Given the description of an element on the screen output the (x, y) to click on. 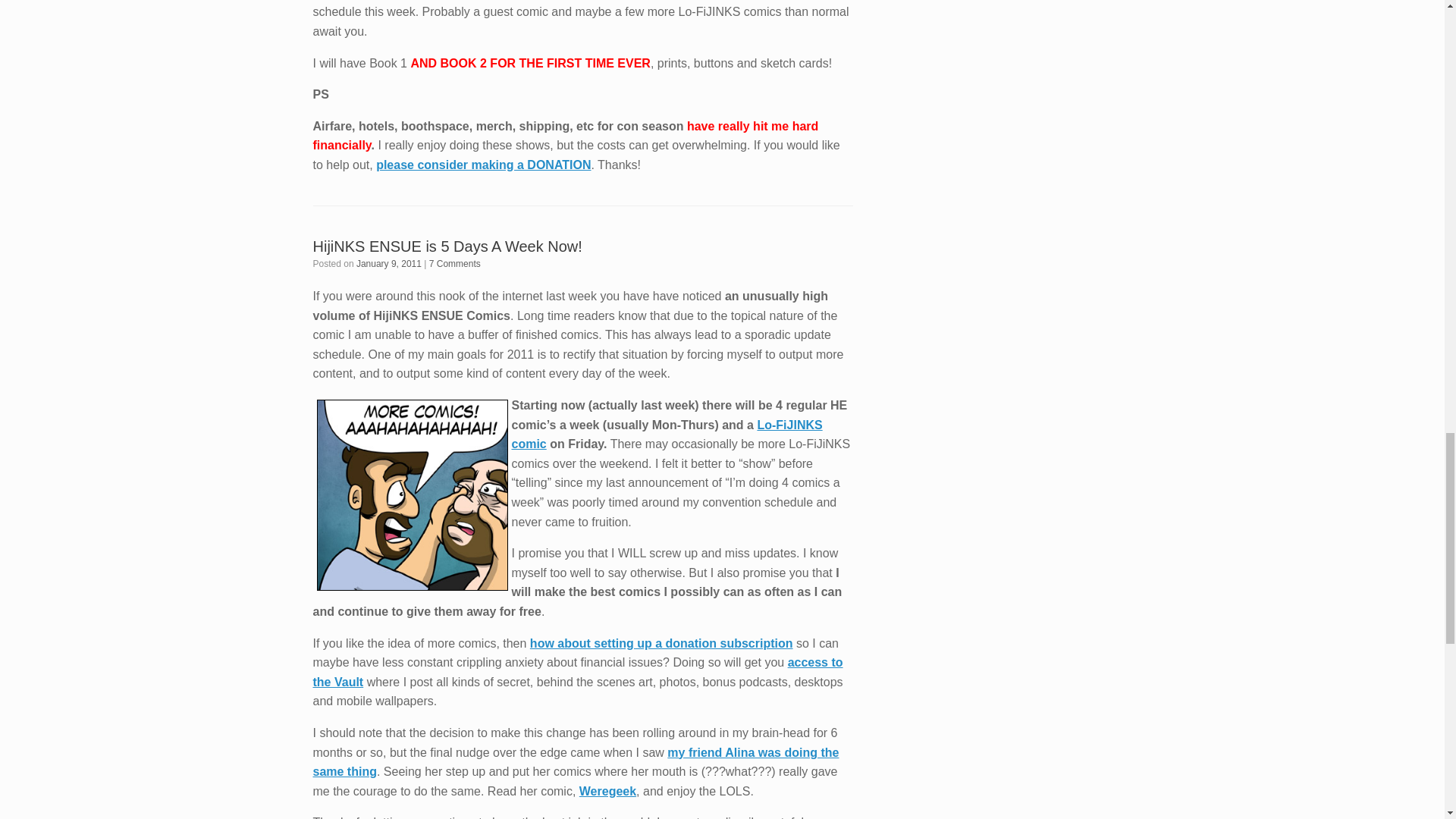
access to the Vault (578, 672)
7 Comments (454, 263)
HijiNKS ENSUE is 5 Days A Week Now! (446, 246)
please consider making a DONATION (483, 164)
Lo-FiJINKS comic (666, 434)
my friend Alina was doing the same thing (575, 762)
how about setting up a donation subscription (661, 643)
January 9, 2011 (389, 263)
